Given the description of an element on the screen output the (x, y) to click on. 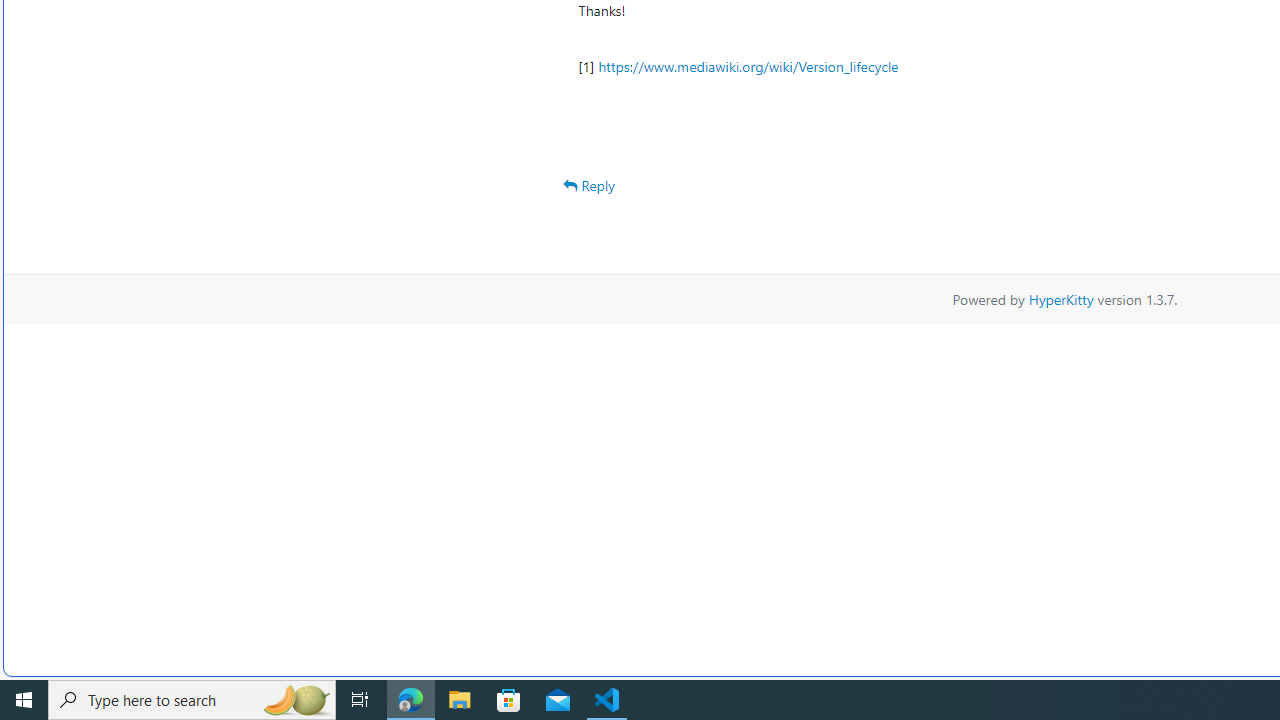
HyperKitty (1060, 298)
https://www.mediawiki.org/wiki/Version_lifecycle (747, 66)
